Given the description of an element on the screen output the (x, y) to click on. 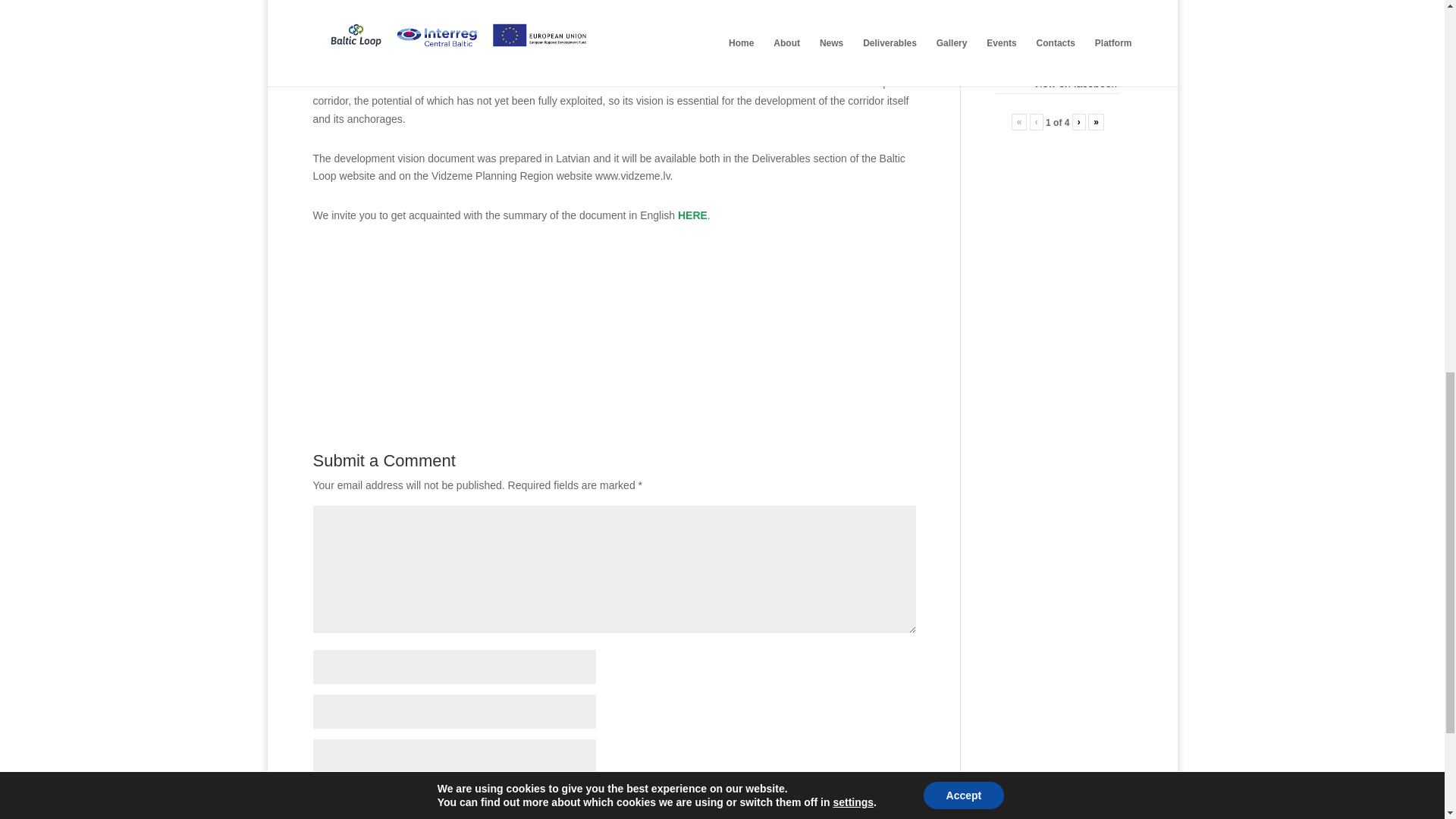
See more (1080, 13)
Submit Comment (840, 816)
Go to the last page (1095, 121)
View on facebook (1074, 83)
Go to the first page (1019, 121)
yes (319, 791)
Submit Comment (840, 816)
View on facebook (1074, 83)
HERE (692, 215)
